Given the description of an element on the screen output the (x, y) to click on. 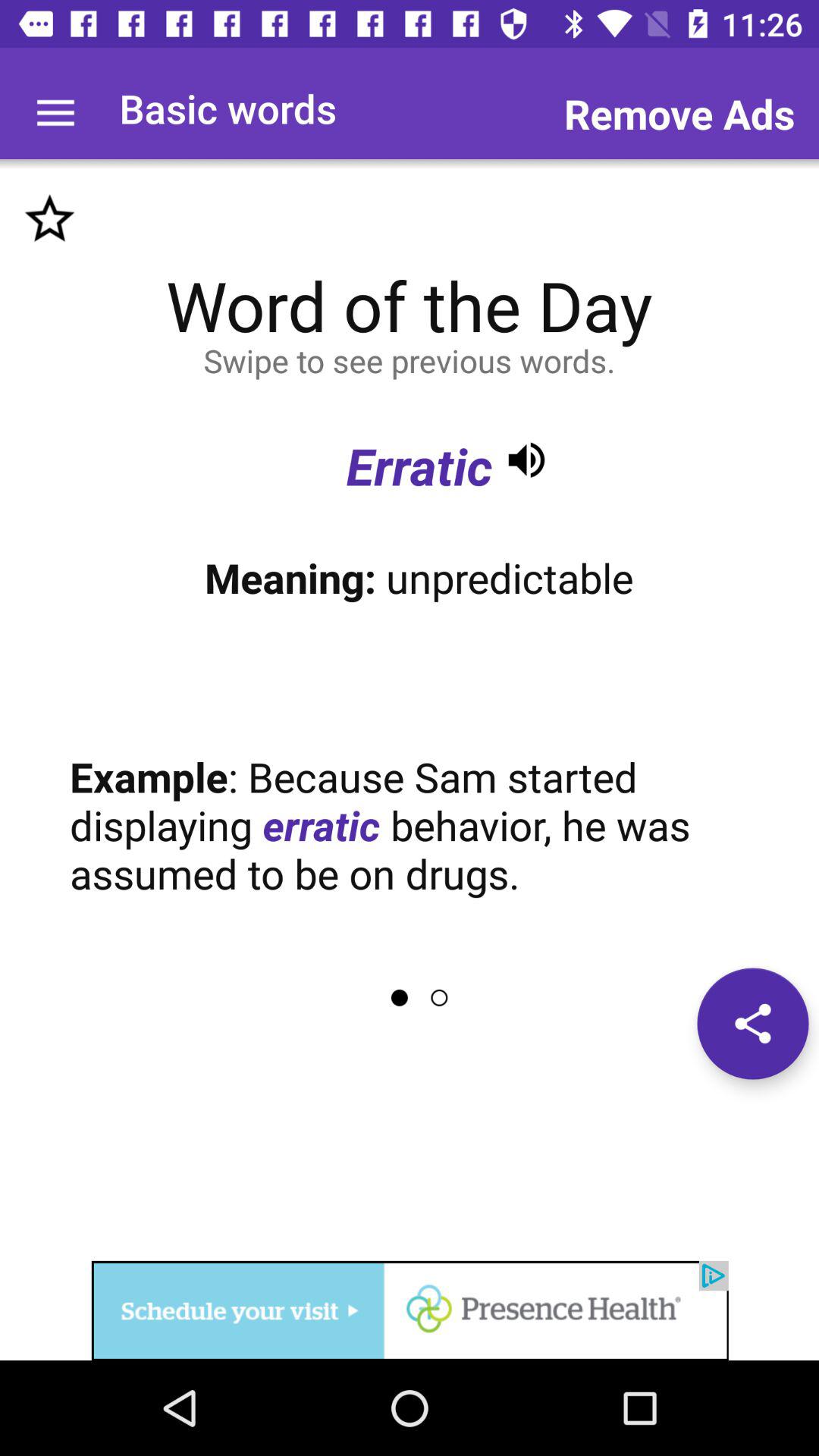
add thumbnail (49, 219)
